Given the description of an element on the screen output the (x, y) to click on. 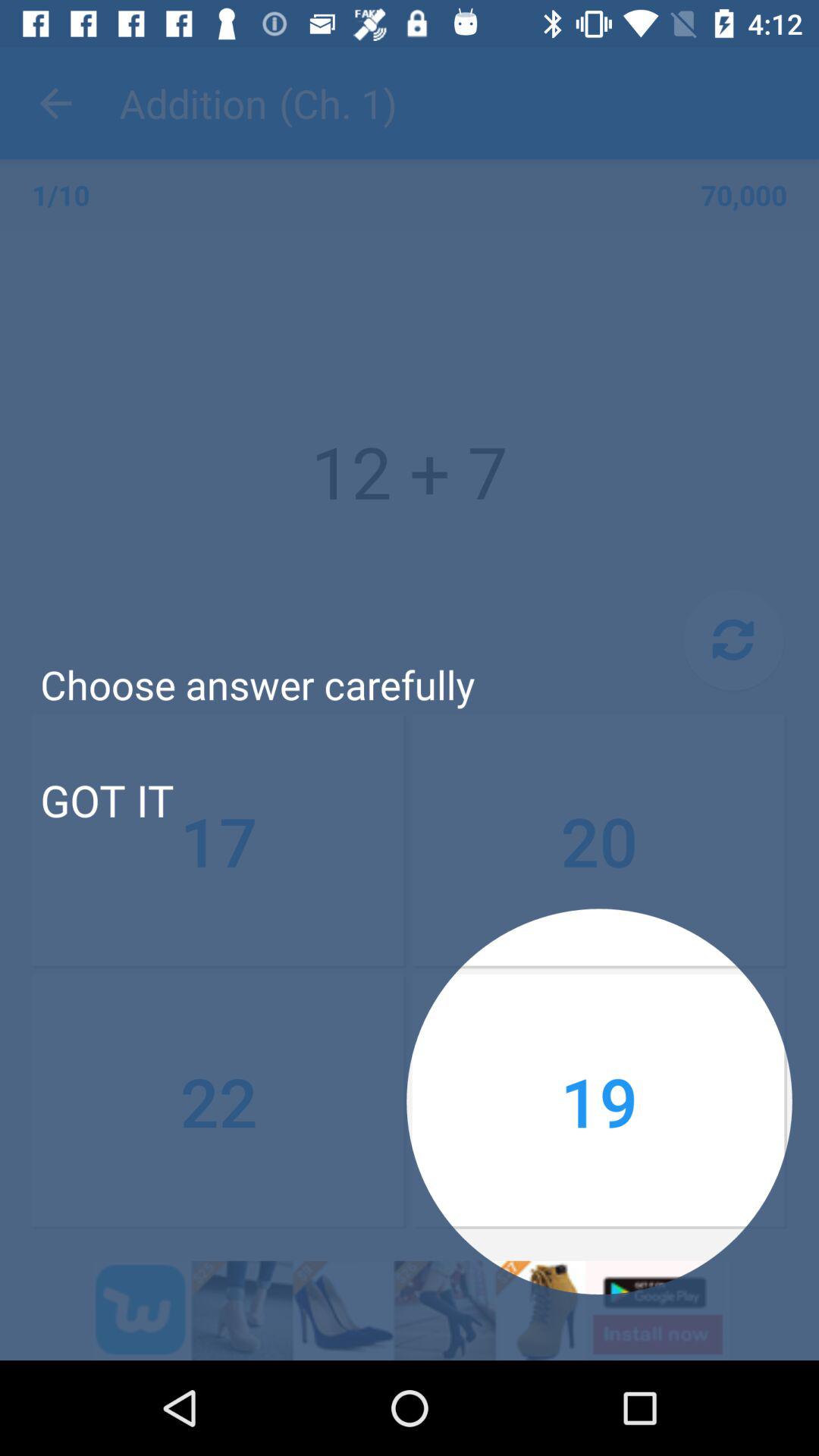
press item to the right of the 17 (599, 840)
